Given the description of an element on the screen output the (x, y) to click on. 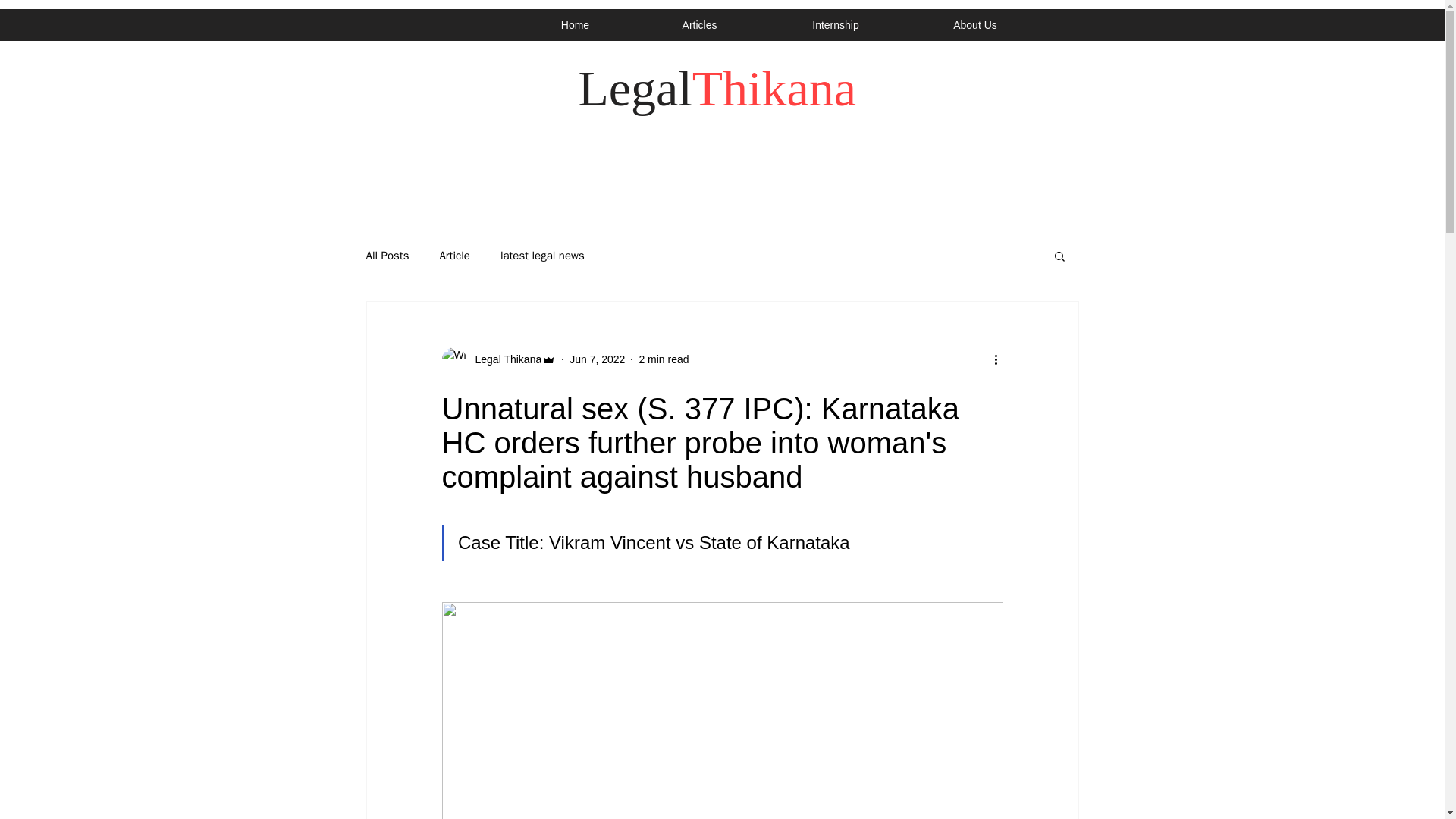
Home (574, 24)
Legal Thikana (498, 359)
About Us (975, 24)
2 min read (663, 358)
Articles (698, 24)
Jun 7, 2022 (596, 358)
Article (453, 255)
Legal Thikana  (503, 359)
All Posts (387, 255)
Internship (834, 24)
